Given the description of an element on the screen output the (x, y) to click on. 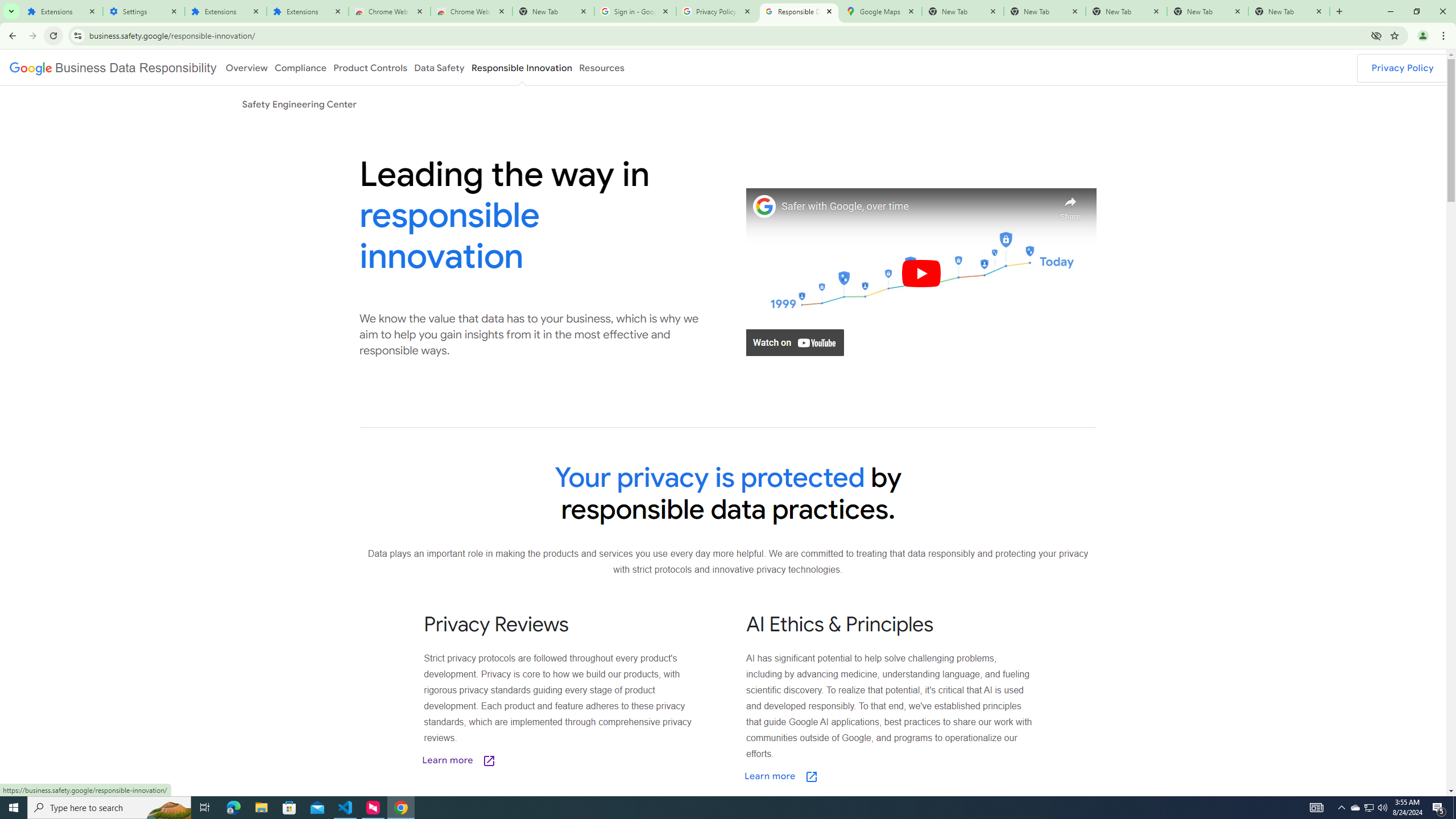
Compliance (300, 67)
Overview (245, 67)
Search tabs (10, 11)
Settings (143, 11)
Resources (601, 67)
Close (1318, 11)
Chrome (1445, 35)
Extensions (225, 11)
New Tab (1289, 11)
Third-party cookies blocked (1376, 35)
Minimize (1390, 11)
Play (921, 273)
Safer with Google, over time (916, 206)
Forward (32, 35)
